Given the description of an element on the screen output the (x, y) to click on. 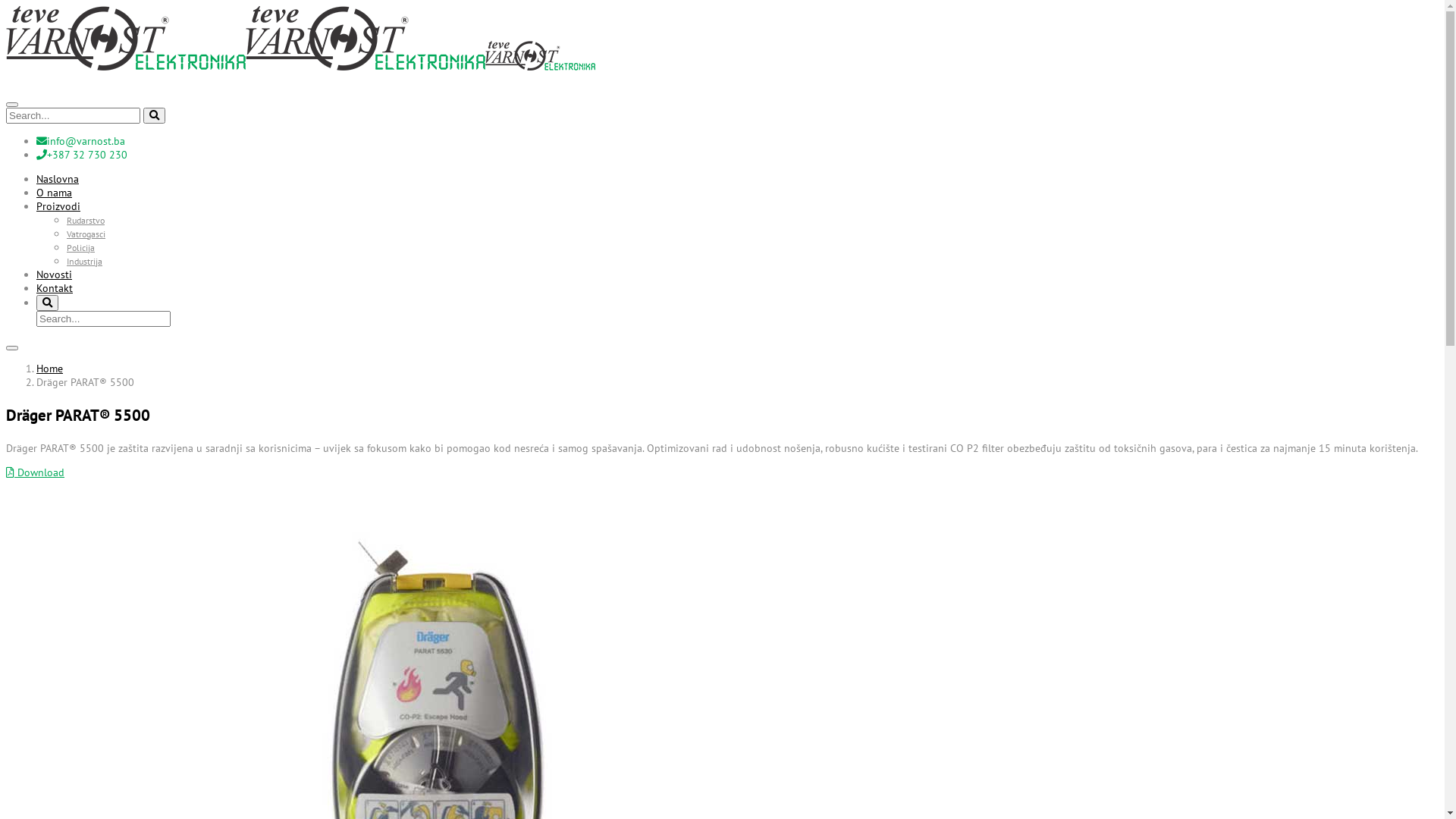
Naslovna Element type: text (57, 178)
Home Element type: text (49, 367)
Proizvodi Element type: text (58, 205)
Download Element type: text (35, 472)
Industrija Element type: text (84, 260)
Rudarstvo Element type: text (85, 219)
Novosti Element type: text (54, 273)
Vatrogasci Element type: text (85, 232)
Kontakt Element type: text (54, 287)
Policija Element type: text (80, 246)
O nama Element type: text (54, 191)
